Given the description of an element on the screen output the (x, y) to click on. 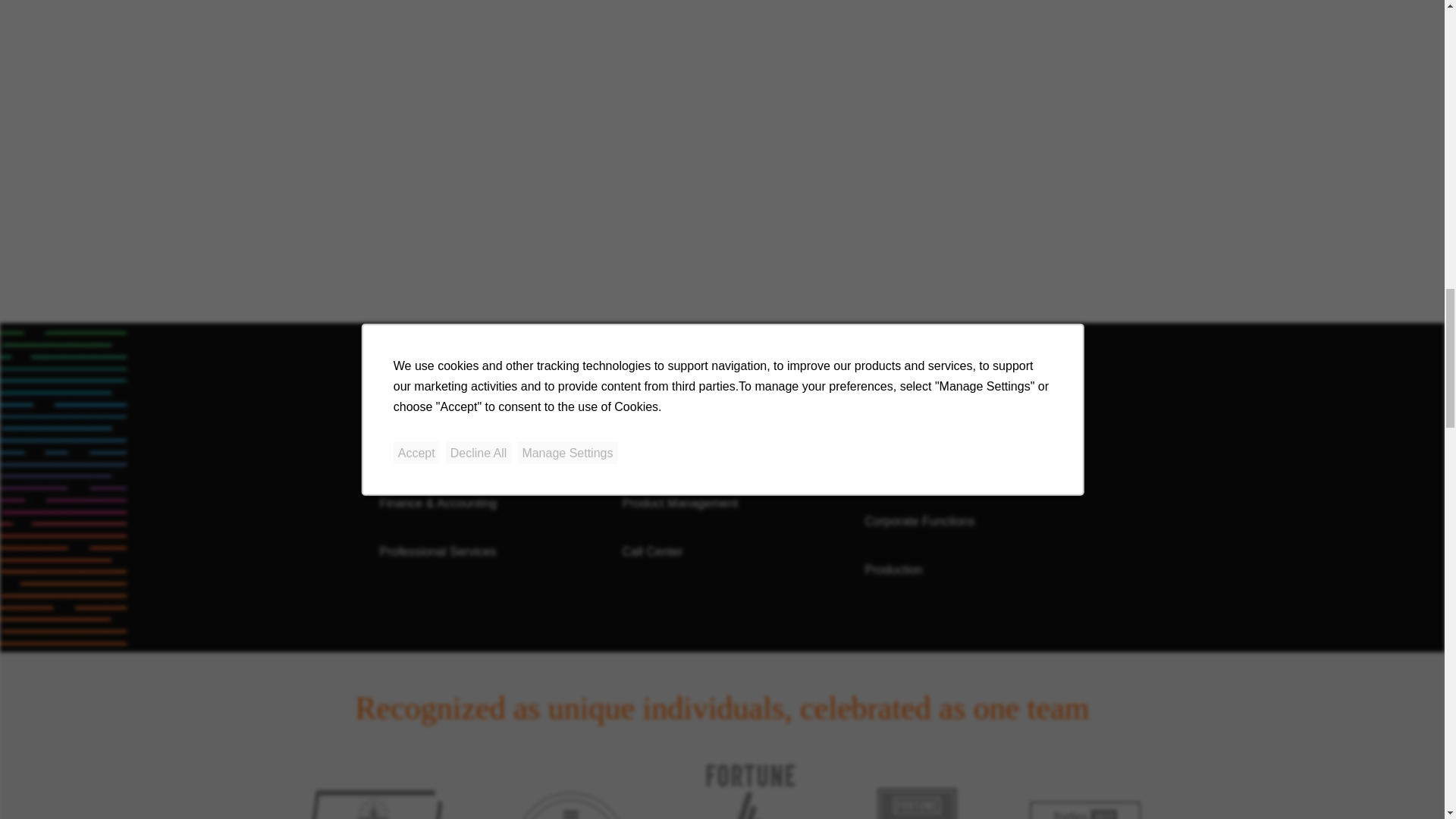
Professional Services (437, 551)
Product Management (679, 502)
Corporate Functions (919, 521)
Sales (636, 454)
Production (893, 569)
Call Center (651, 551)
